Given the description of an element on the screen output the (x, y) to click on. 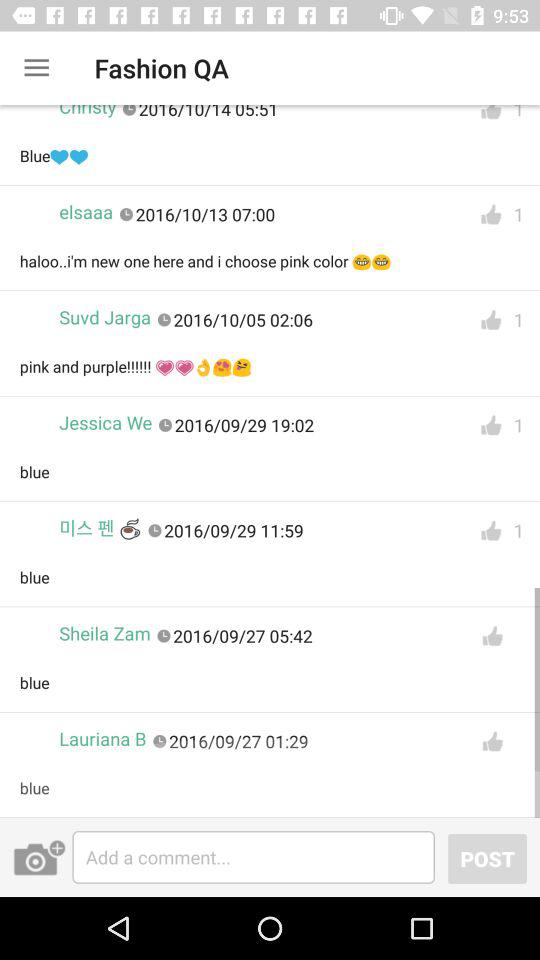
like the 2nd reply (491, 214)
